Given the description of an element on the screen output the (x, y) to click on. 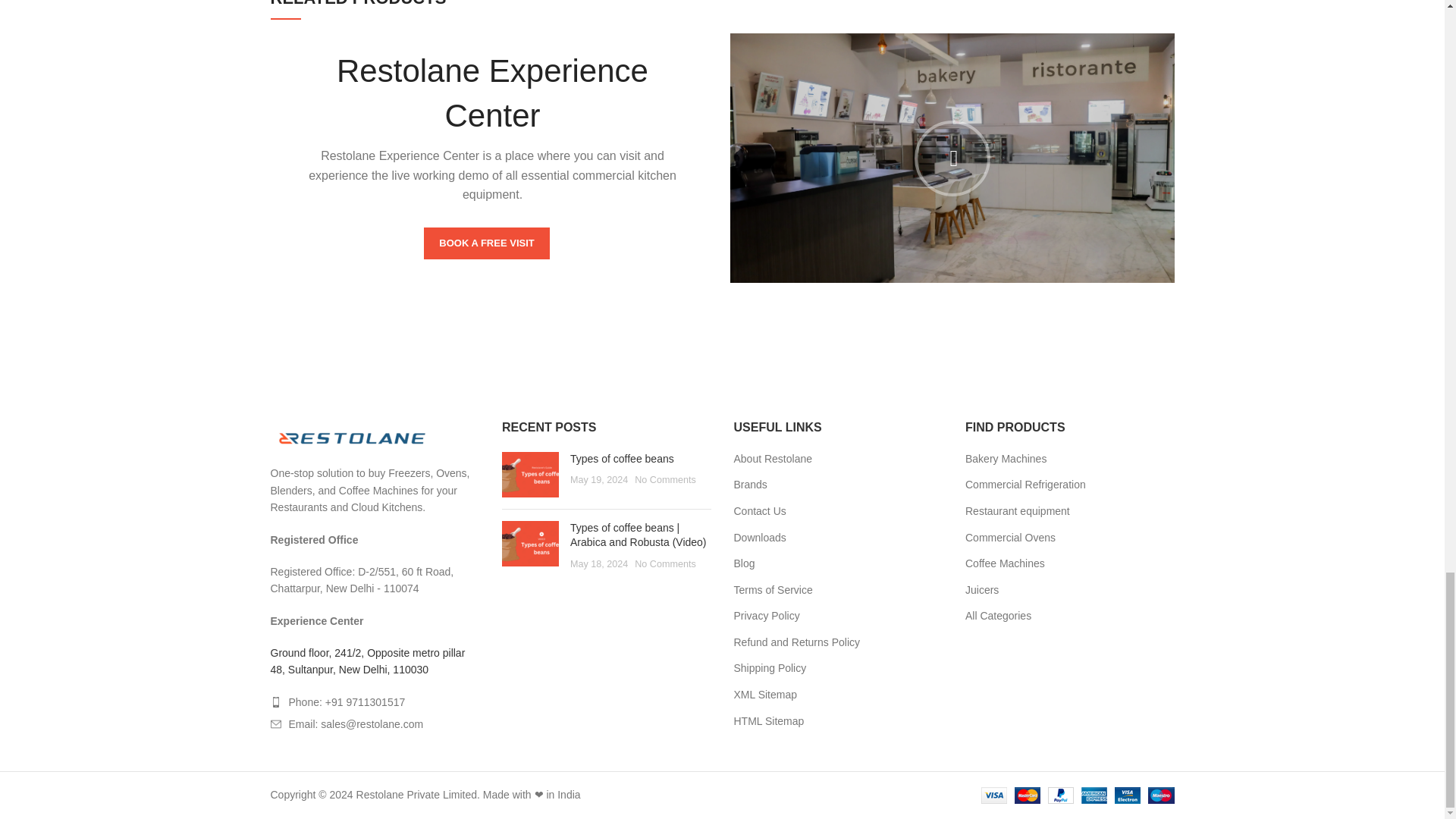
Permalink to Types of coffee beans (622, 458)
wd-phone-dark (275, 701)
